Given the description of an element on the screen output the (x, y) to click on. 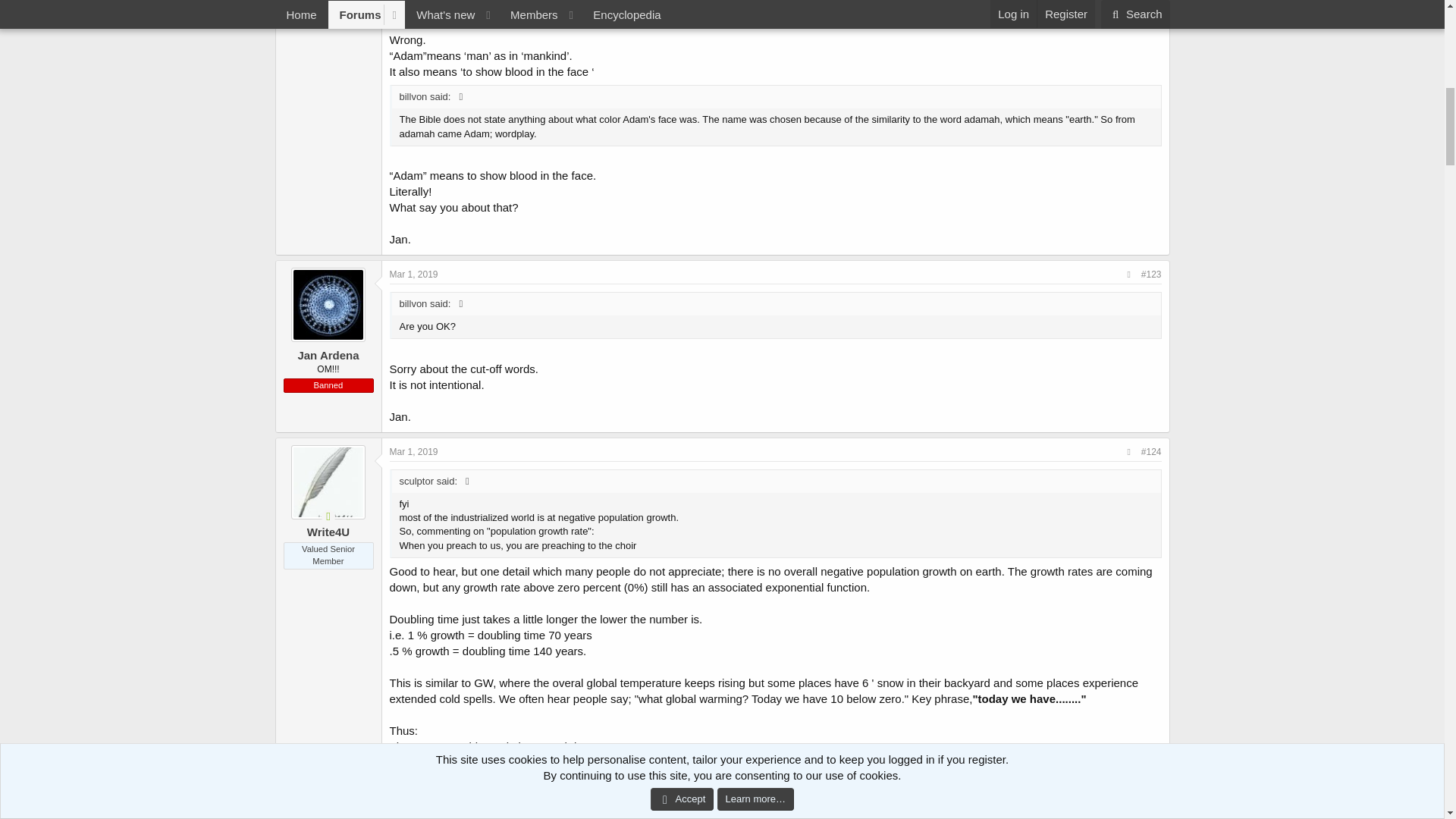
Mar 1, 2019 at 6:43 PM (414, 274)
Mar 1, 2019 at 6:59 PM (414, 451)
